Given the description of an element on the screen output the (x, y) to click on. 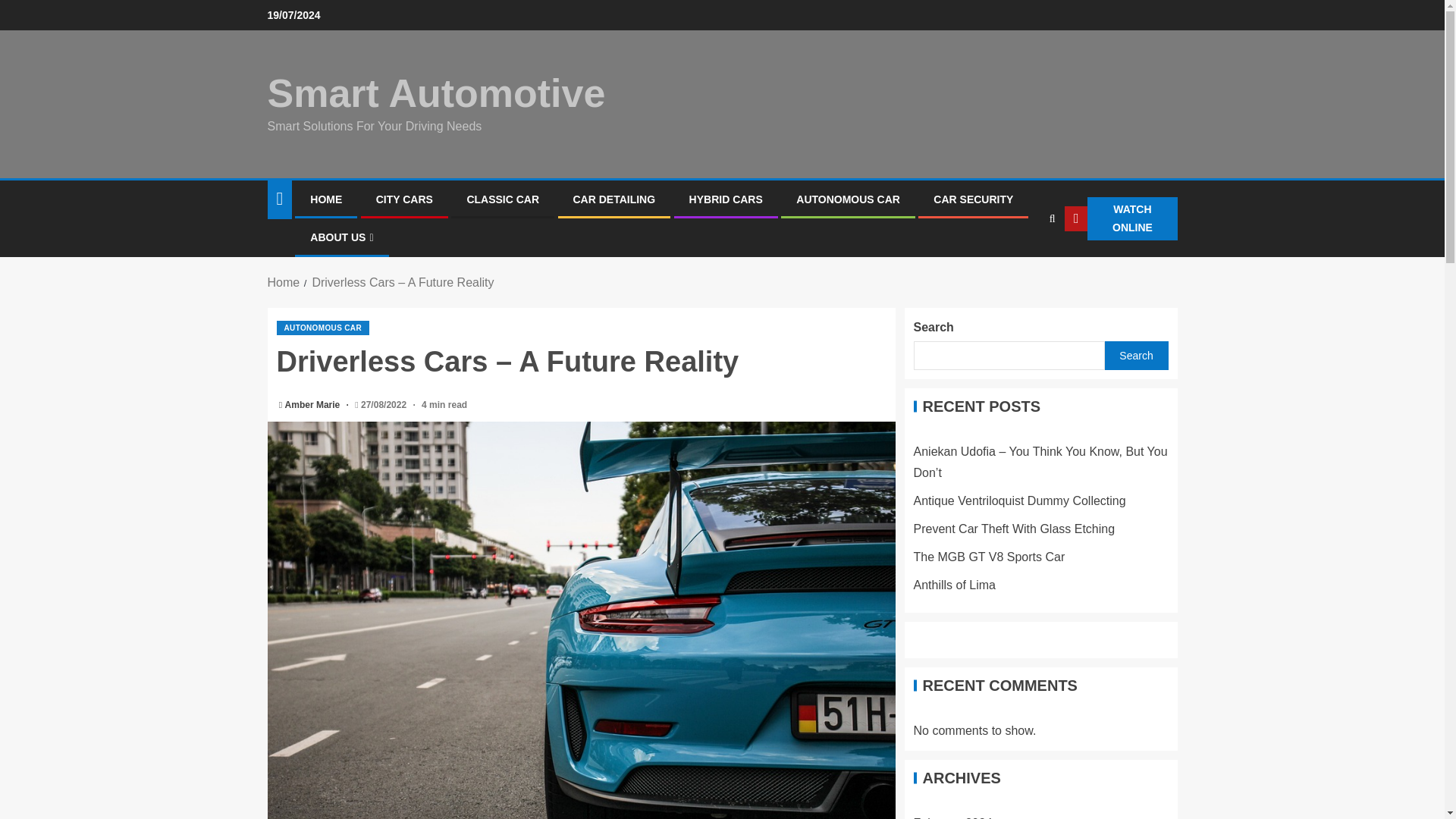
AUTONOMOUS CAR (322, 327)
AUTONOMOUS CAR (847, 199)
CAR DETAILING (614, 199)
WATCH ONLINE (1120, 218)
CITY CARS (403, 199)
Search (1021, 265)
CLASSIC CAR (501, 199)
CAR SECURITY (973, 199)
HOME (326, 199)
ABOUT US (341, 236)
HYBRID CARS (725, 199)
Smart Automotive (435, 93)
Amber Marie (313, 404)
Home (282, 282)
